Given the description of an element on the screen output the (x, y) to click on. 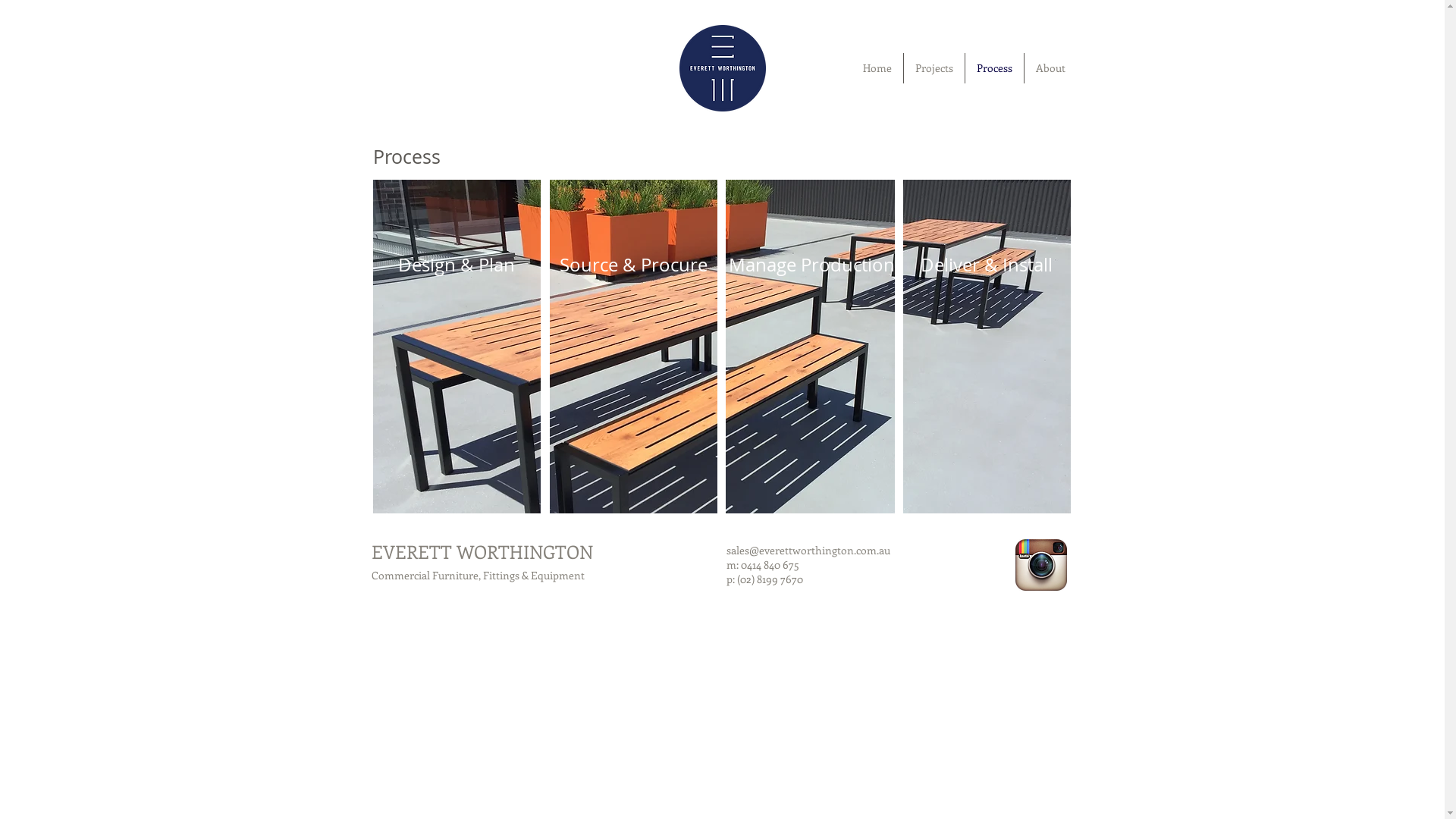
Source & Procure Element type: text (632, 264)
Deliver & Install Element type: text (986, 264)
Manage Production Element type: text (810, 264)
Process Element type: text (994, 68)
sales@everettworthington.com.au Element type: text (808, 549)
Home Element type: text (877, 68)
Photo 17-02-2015 12 48 08 pm.jpg Element type: hover (721, 346)
Design & Plan Element type: text (456, 264)
Projects Element type: text (933, 68)
About Element type: text (1050, 68)
